Given the description of an element on the screen output the (x, y) to click on. 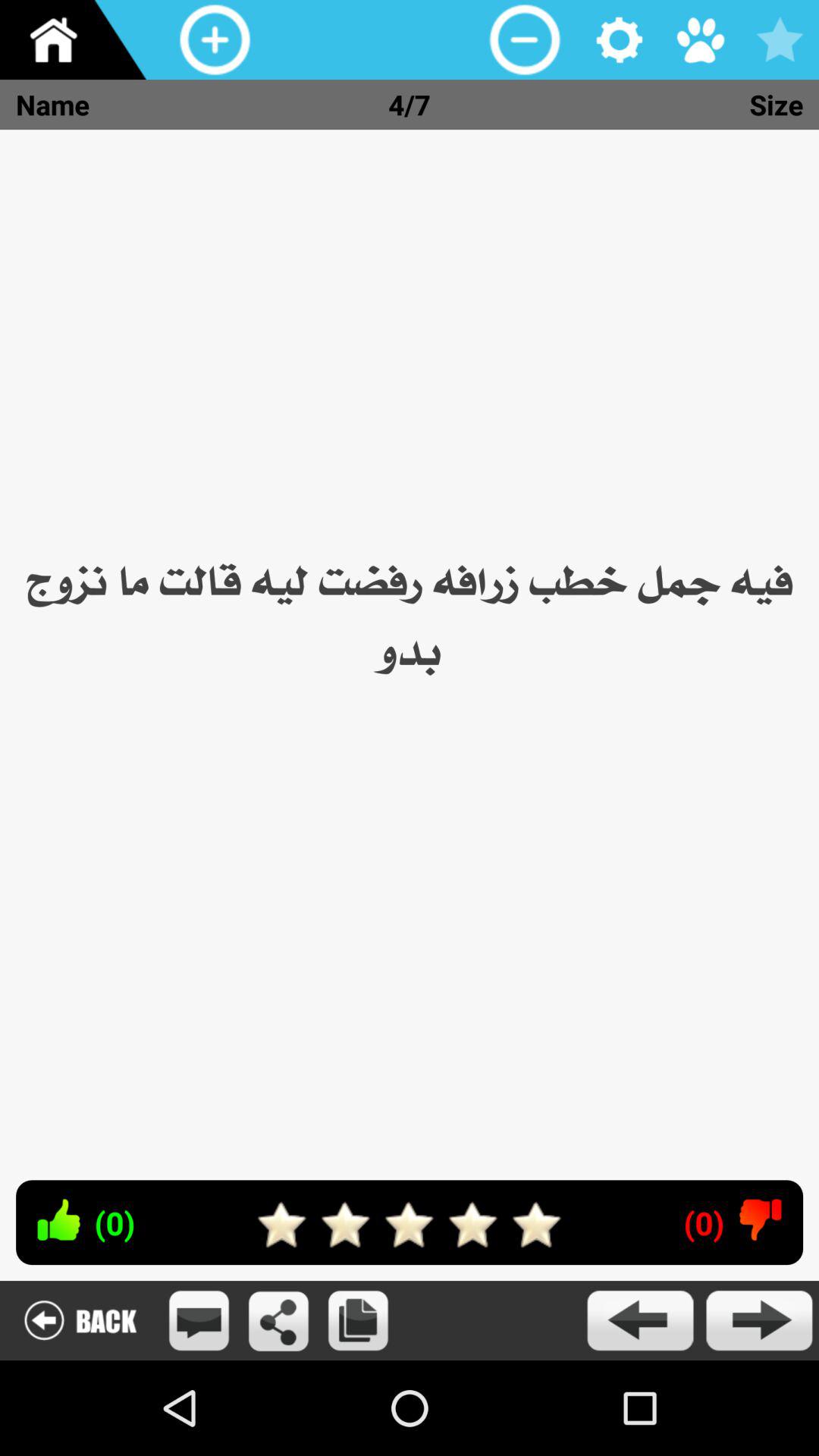
like this phrase (58, 1219)
